Given the description of an element on the screen output the (x, y) to click on. 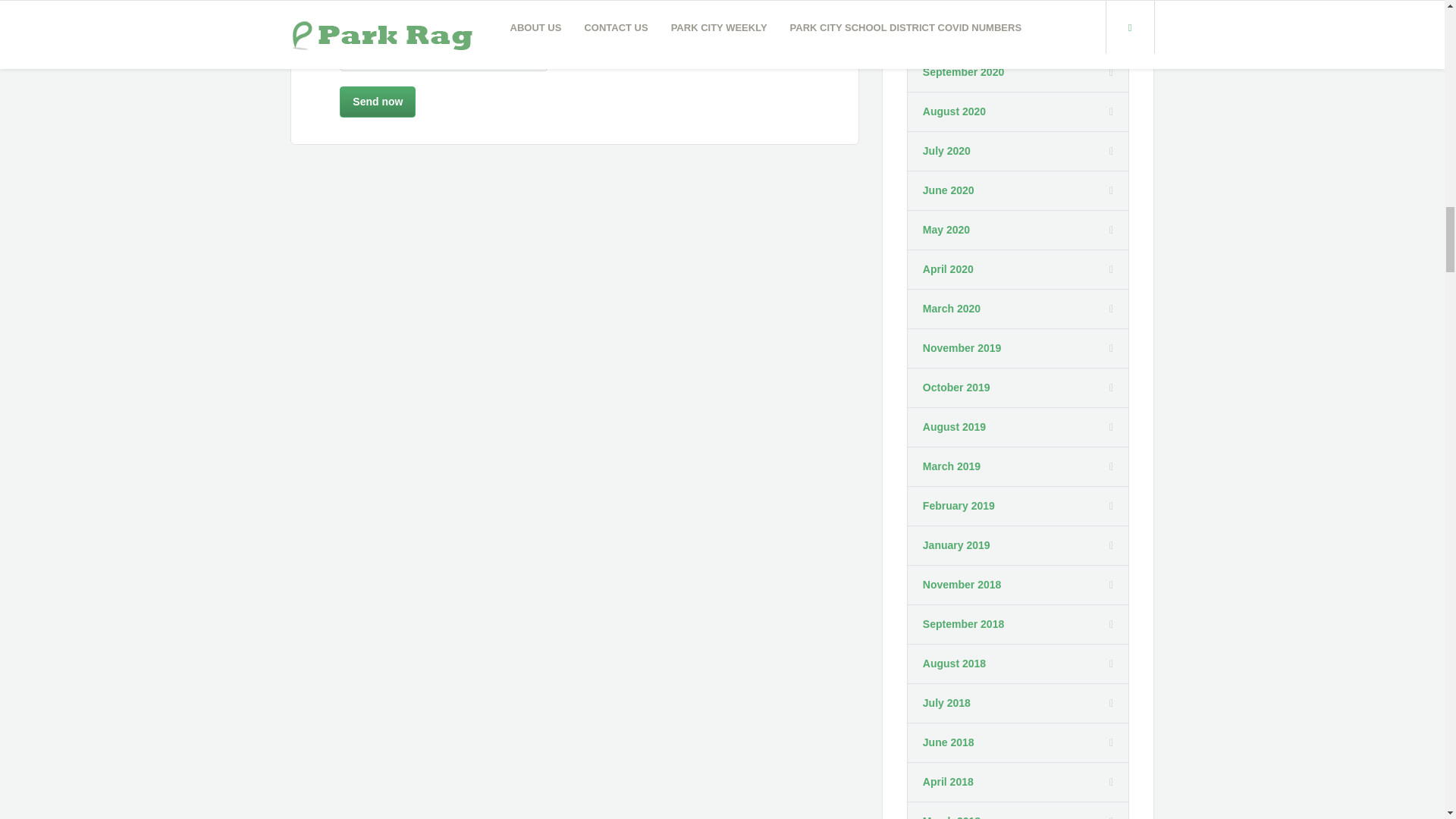
Send now (376, 101)
Send now (376, 101)
